Given the description of an element on the screen output the (x, y) to click on. 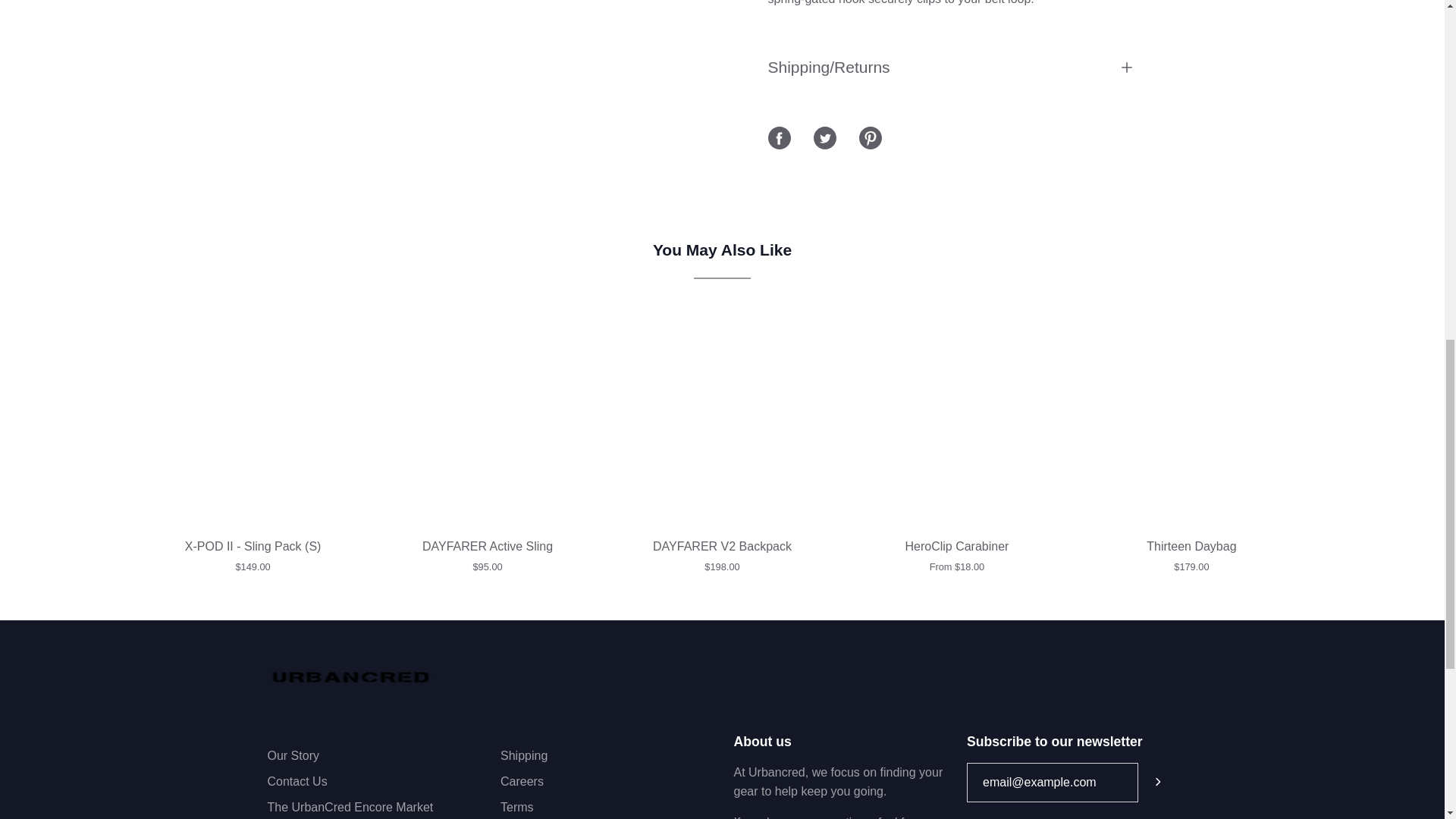
Share on Twitter (823, 137)
Share on Pinterest (869, 137)
Share on Facebook (778, 137)
